Given the description of an element on the screen output the (x, y) to click on. 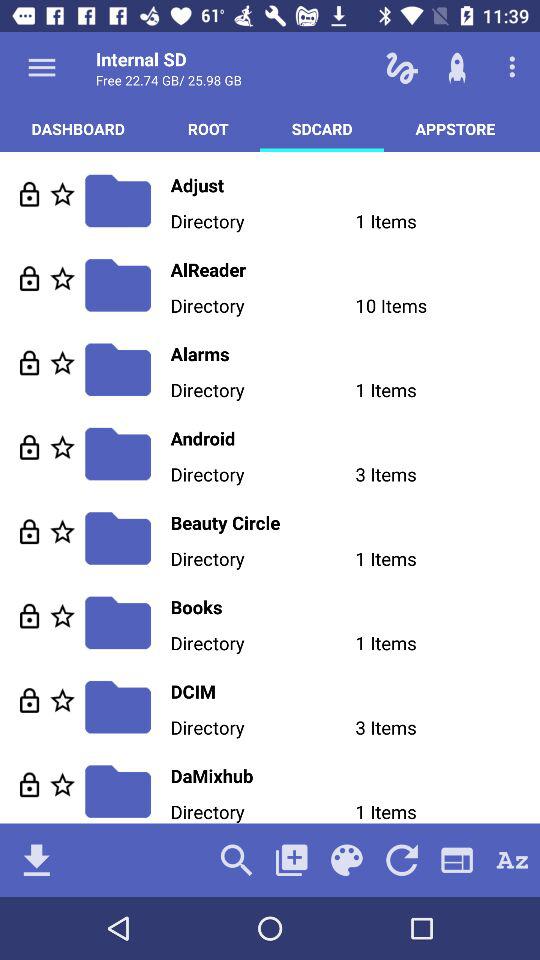
go do lacke (29, 531)
